Given the description of an element on the screen output the (x, y) to click on. 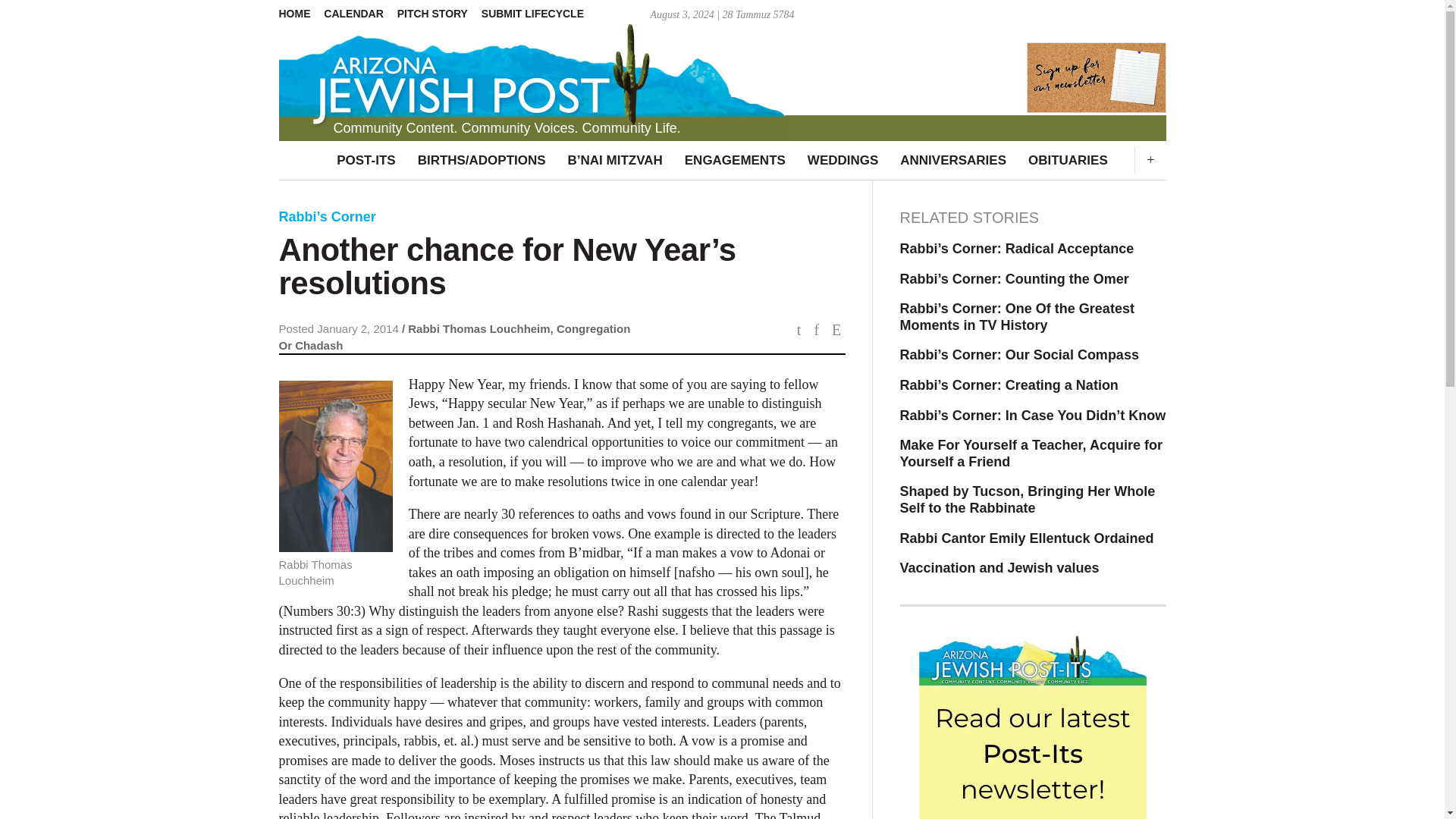
CALENDAR (358, 14)
HOME (300, 14)
Shaped by Tucson, Bringing Her Whole Self to the Rabbinate (1032, 500)
OBITUARIES (1067, 160)
Shaped by Tucson, Bringing Her Whole Self to the Rabbinate (1032, 500)
POST-ITS (365, 160)
Rabbi Cantor Emily Ellentuck Ordained (1032, 538)
ENGAGEMENTS (734, 160)
Vaccination and Jewish values (1032, 568)
WEDDINGS (841, 160)
Make For Yourself a Teacher, Acquire for Yourself a Friend (1032, 453)
Community Content. Community Voices. Community Life. (722, 70)
Make For Yourself a Teacher, Acquire for Yourself a Friend (1032, 453)
ANNIVERSARIES (952, 160)
SUBMIT LIFECYCLE (537, 14)
